Given the description of an element on the screen output the (x, y) to click on. 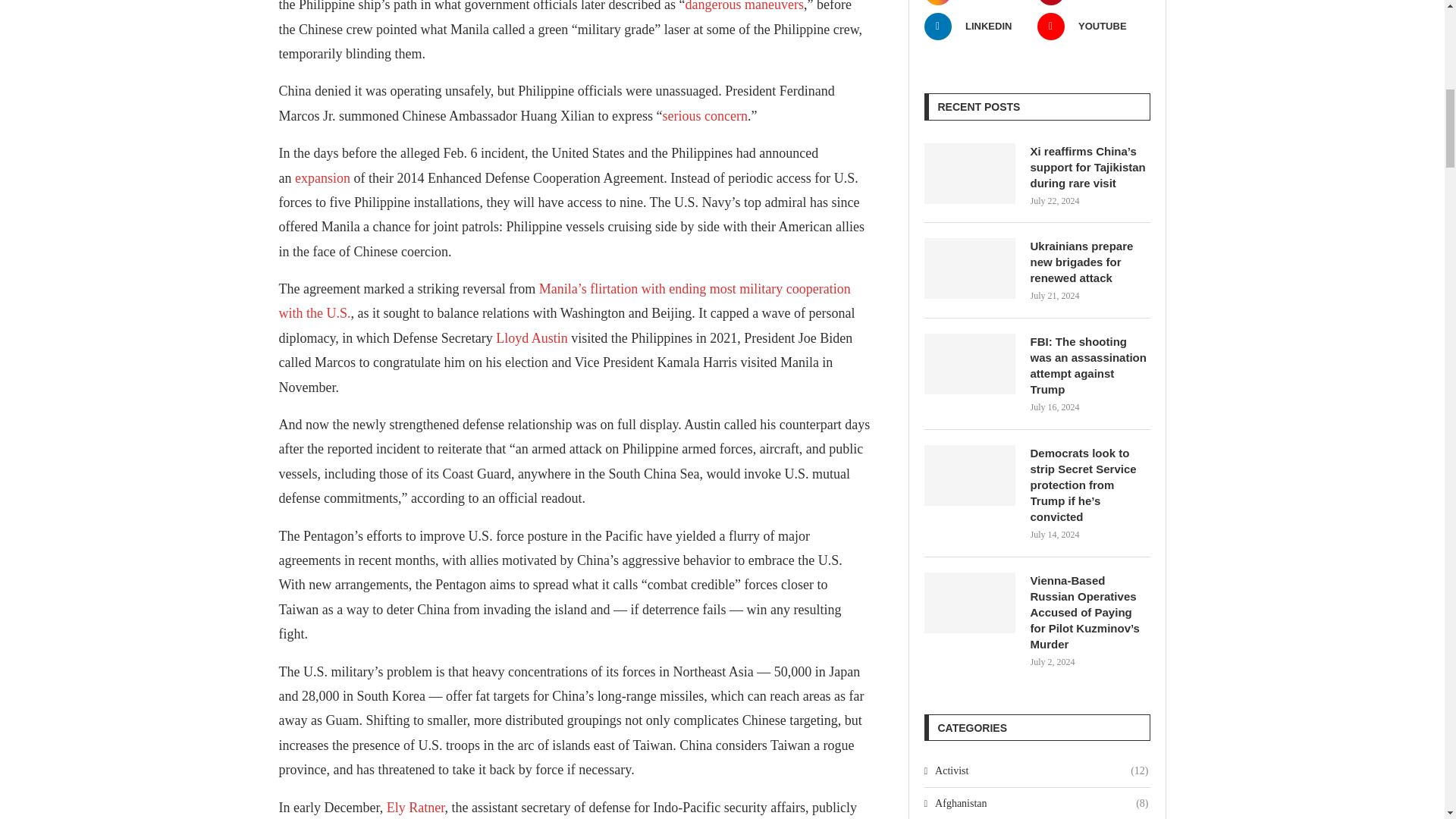
FBI: The shooting was an assassination attempt against Trump (968, 363)
FBI: The shooting was an assassination attempt against Trump (1089, 365)
Ukrainians prepare new brigades for renewed attack (1089, 261)
Ukrainians prepare new brigades for renewed attack (968, 268)
